Given the description of an element on the screen output the (x, y) to click on. 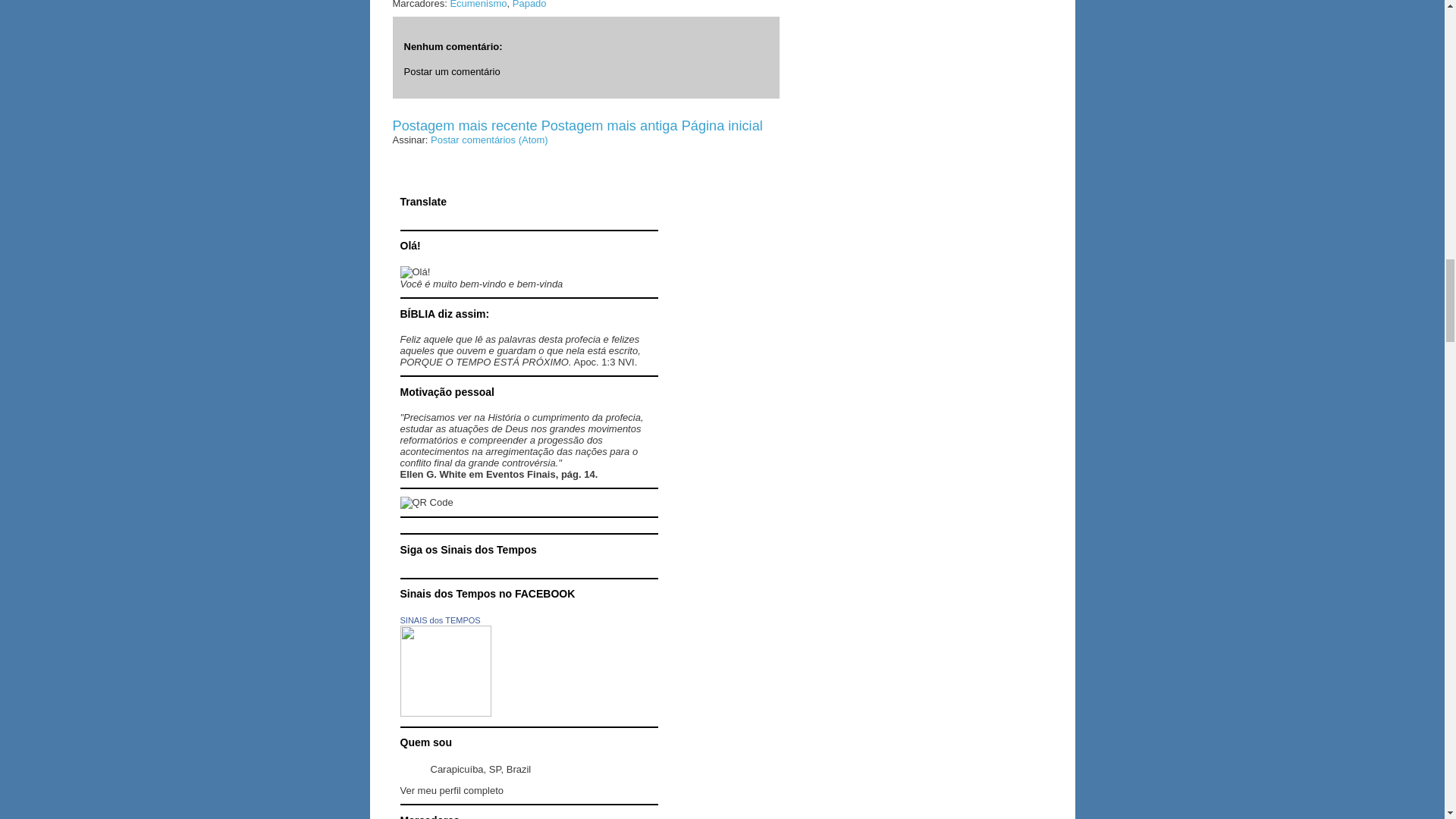
Ecumenismo (477, 4)
Postagem mais antiga (609, 125)
Papado (529, 4)
Postagem mais antiga (609, 125)
SINAIS dos TEMPOS (440, 619)
Postagem mais recente (465, 125)
Postagem mais recente (465, 125)
